Given the description of an element on the screen output the (x, y) to click on. 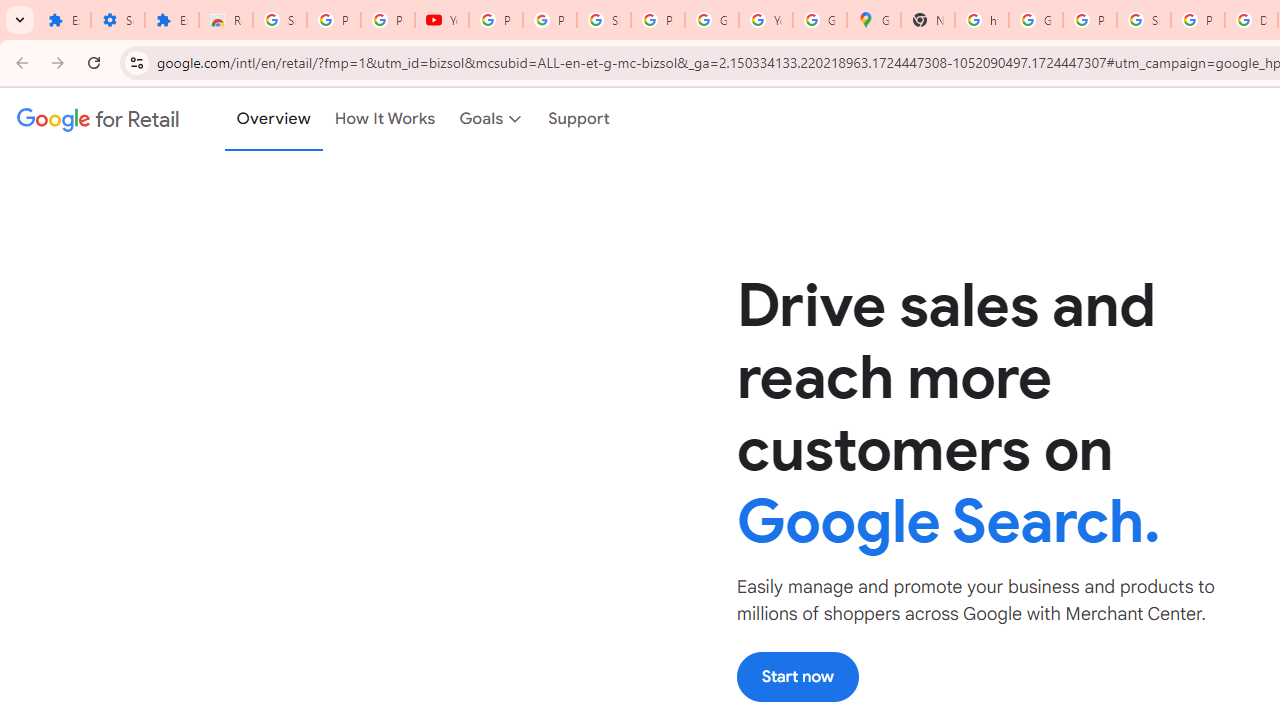
Google Account (711, 20)
Support (579, 119)
Start now (797, 676)
https://scholar.google.com/ (981, 20)
How It Works (385, 119)
